Given the description of an element on the screen output the (x, y) to click on. 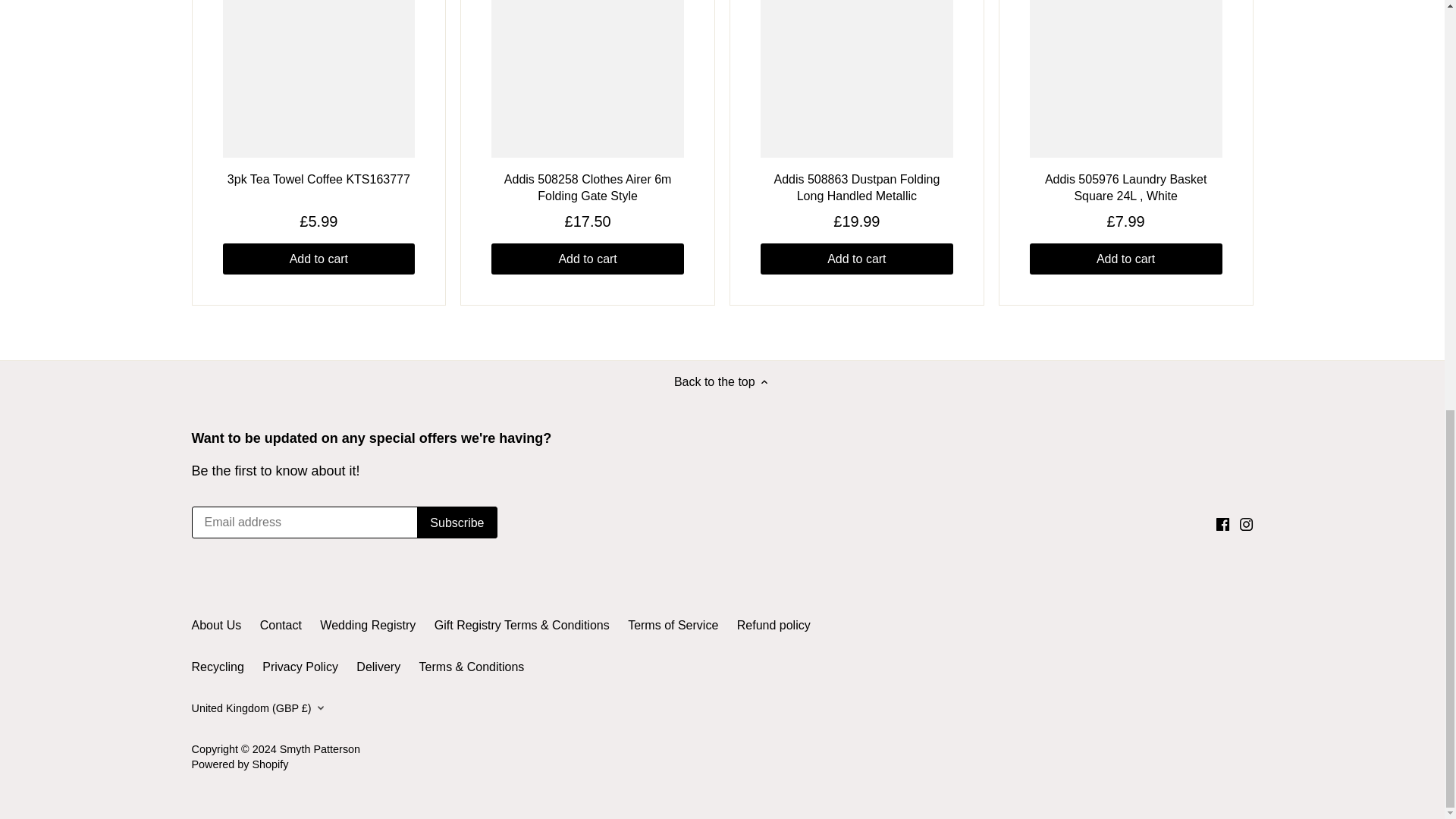
Subscribe (456, 522)
Instagram (1246, 523)
Facebook (1221, 523)
